Given the description of an element on the screen output the (x, y) to click on. 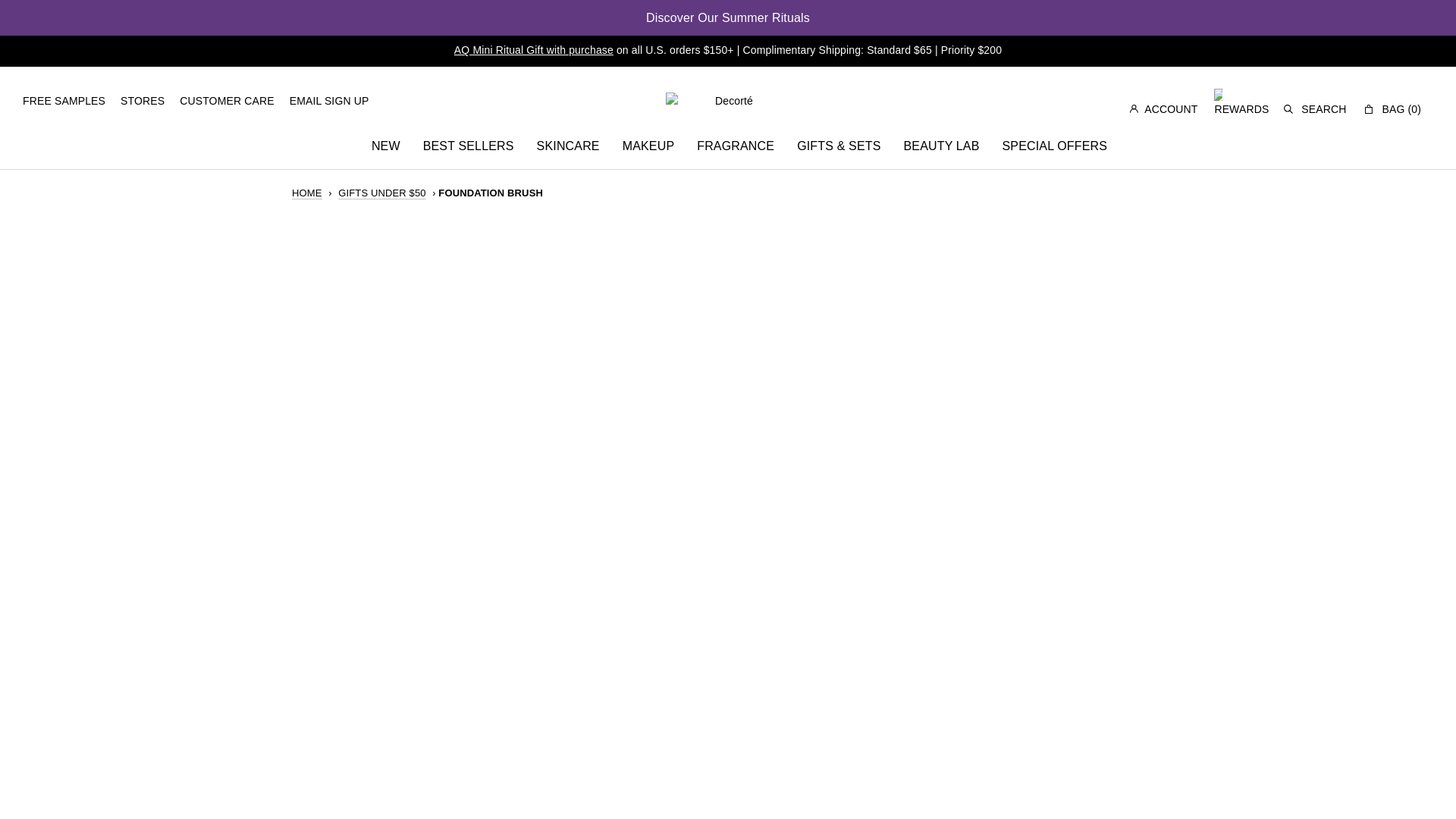
Home (306, 193)
